Given the description of an element on the screen output the (x, y) to click on. 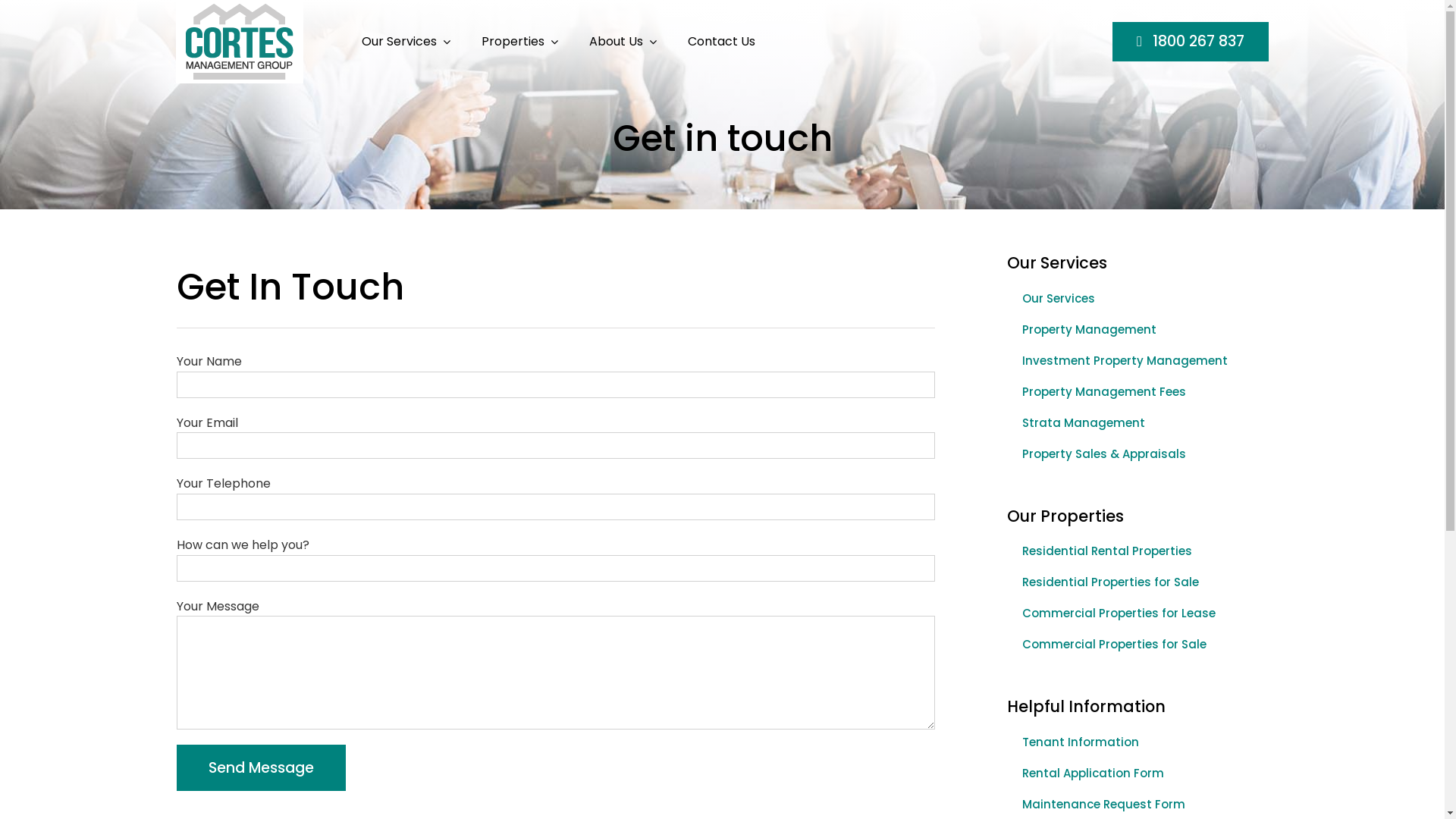
Residential Rental Properties Element type: text (1131, 551)
Tenant Information Element type: text (1131, 742)
Residential Properties for Sale Element type: text (1131, 582)
About Us Element type: text (622, 40)
Commercial Properties for Lease Element type: text (1131, 613)
Our Services Element type: text (1131, 298)
Contact Us Element type: text (721, 40)
1800 267 837 Element type: text (1189, 40)
Property Management Fees Element type: text (1131, 391)
Property Management Element type: text (1131, 329)
Properties Element type: text (519, 40)
Property Sales & Appraisals Element type: text (1131, 454)
Our Services Element type: text (405, 40)
Strata Management Element type: text (1131, 423)
Rental Application Form Element type: text (1131, 773)
Send Message Element type: text (260, 767)
Investment Property Management Element type: text (1131, 360)
Commercial Properties for Sale Element type: text (1131, 644)
